Given the description of an element on the screen output the (x, y) to click on. 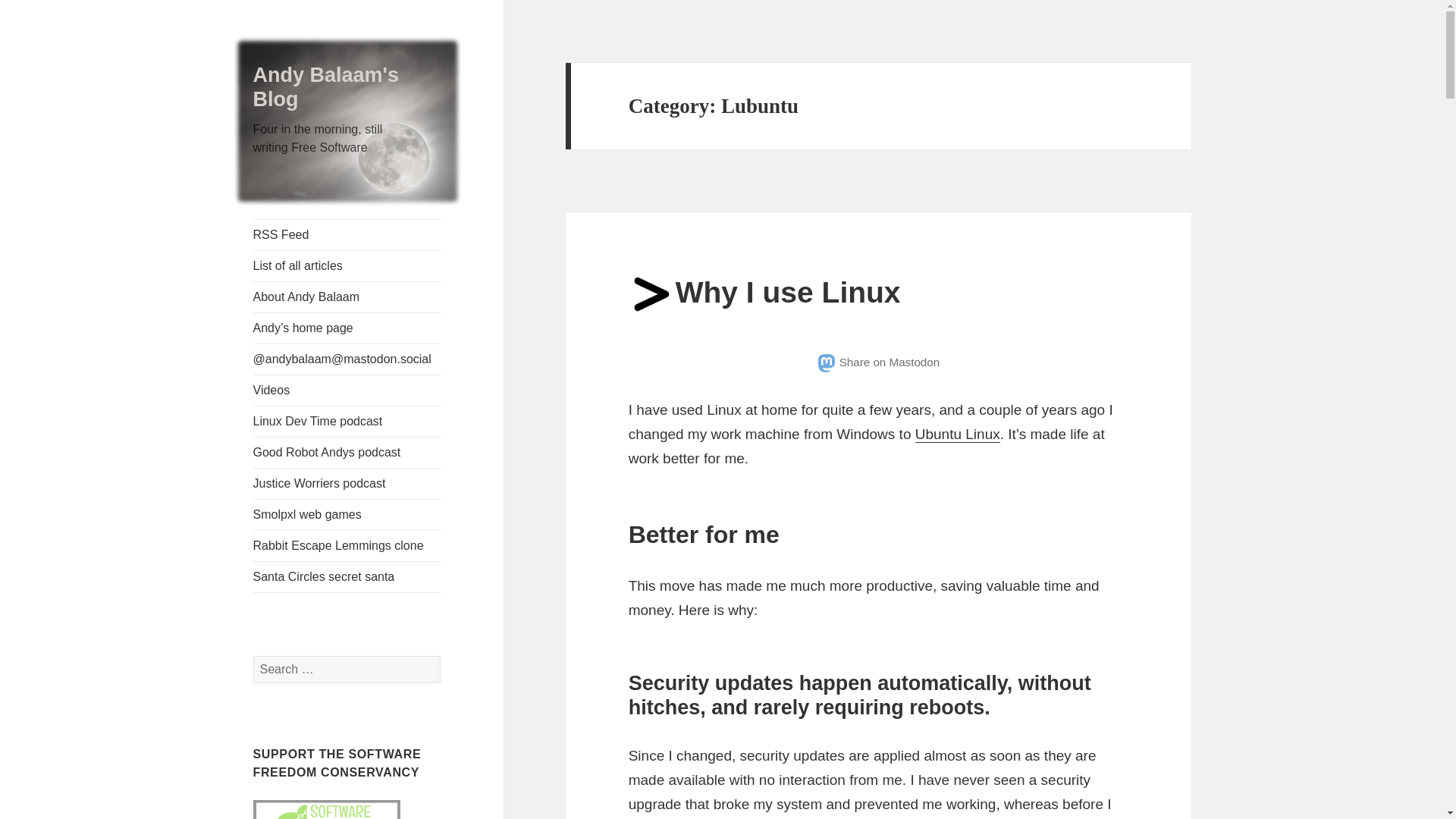
Linux Dev Time podcast (347, 421)
Toot on Mastodon (877, 361)
RSS Feed (347, 235)
Videos (347, 390)
Smolpxl web games (347, 514)
Andy Balaam's Blog (325, 86)
Good Robot Andys podcast (347, 452)
Rabbit Escape Lemmings clone (347, 545)
Justice Worriers podcast (347, 483)
About Andy Balaam (347, 296)
List of all articles (347, 265)
Santa Circles secret santa (347, 576)
